Given the description of an element on the screen output the (x, y) to click on. 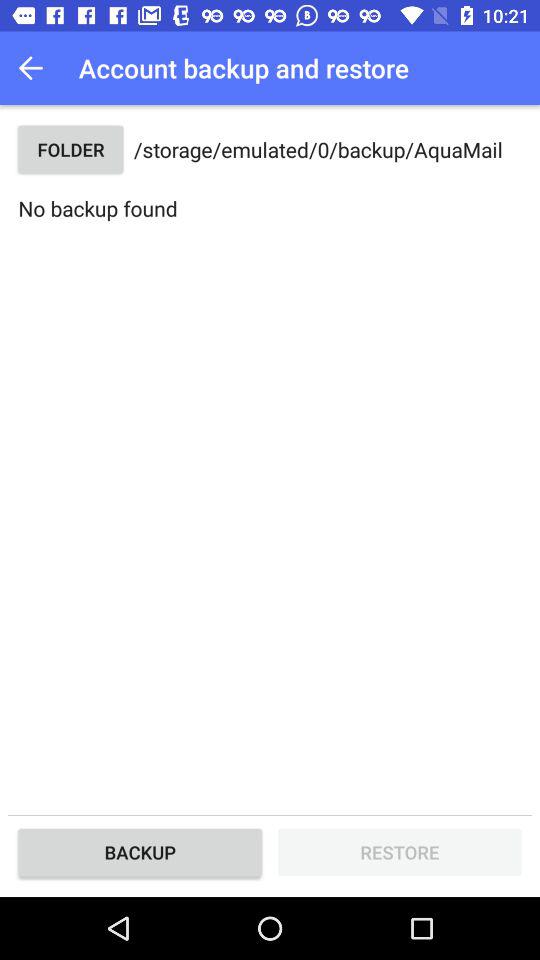
choose the item next to the account backup and app (36, 68)
